Given the description of an element on the screen output the (x, y) to click on. 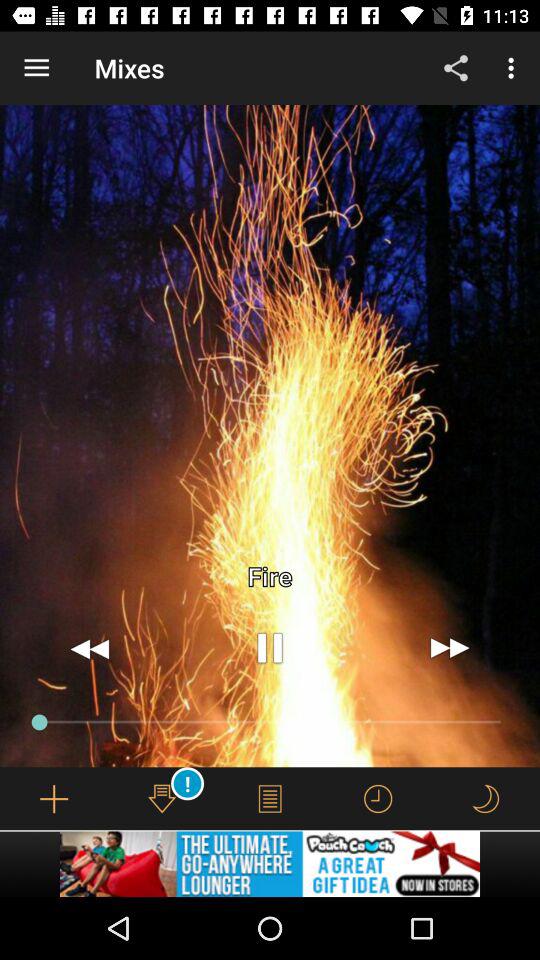
check time (378, 798)
